Given the description of an element on the screen output the (x, y) to click on. 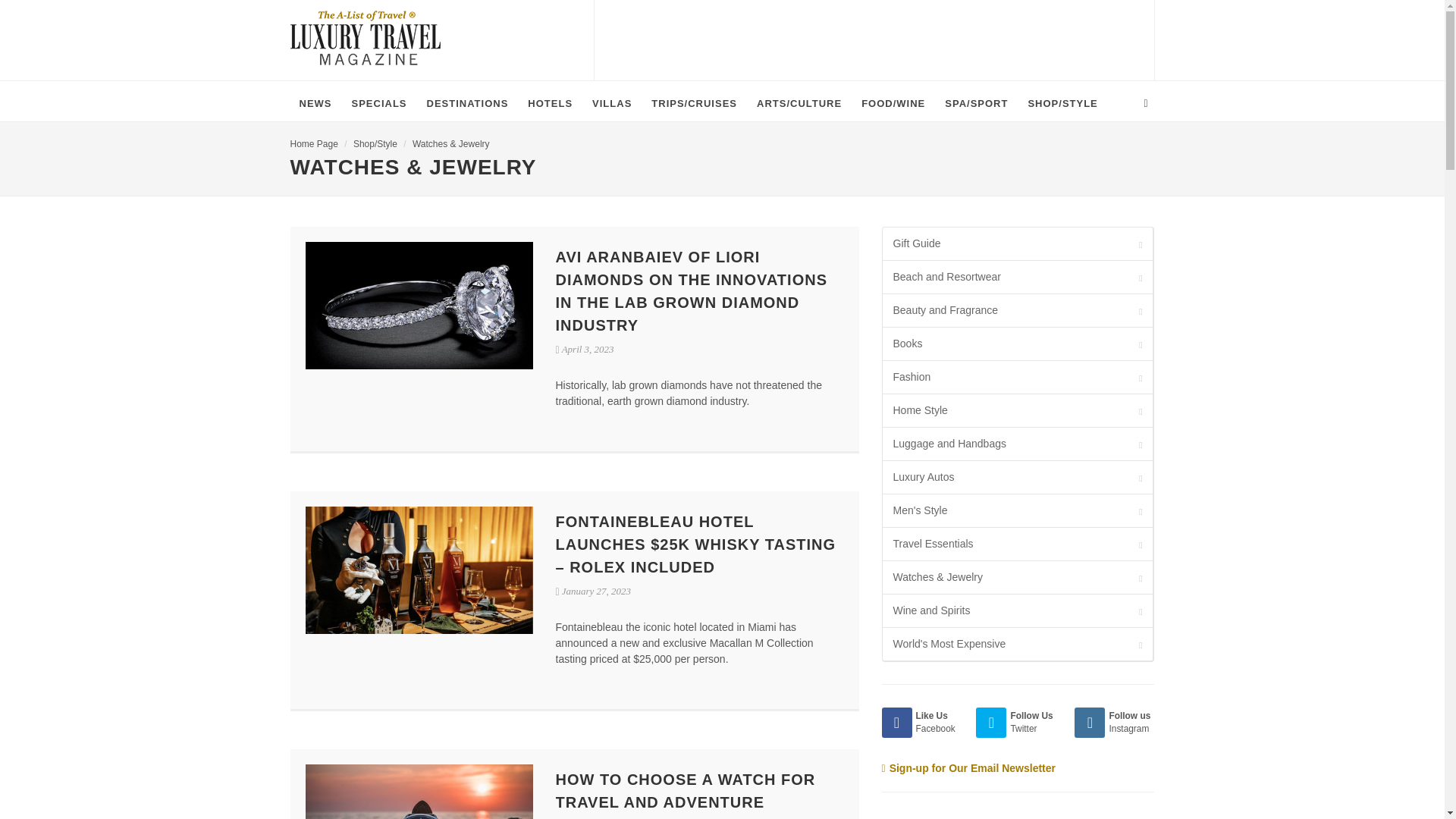
HOTELS (549, 103)
Advertisement (994, 816)
Advertisement (873, 38)
VILLAS (611, 103)
DESTINATIONS (467, 103)
SPECIALS (379, 103)
NEWS (314, 103)
